Given the description of an element on the screen output the (x, y) to click on. 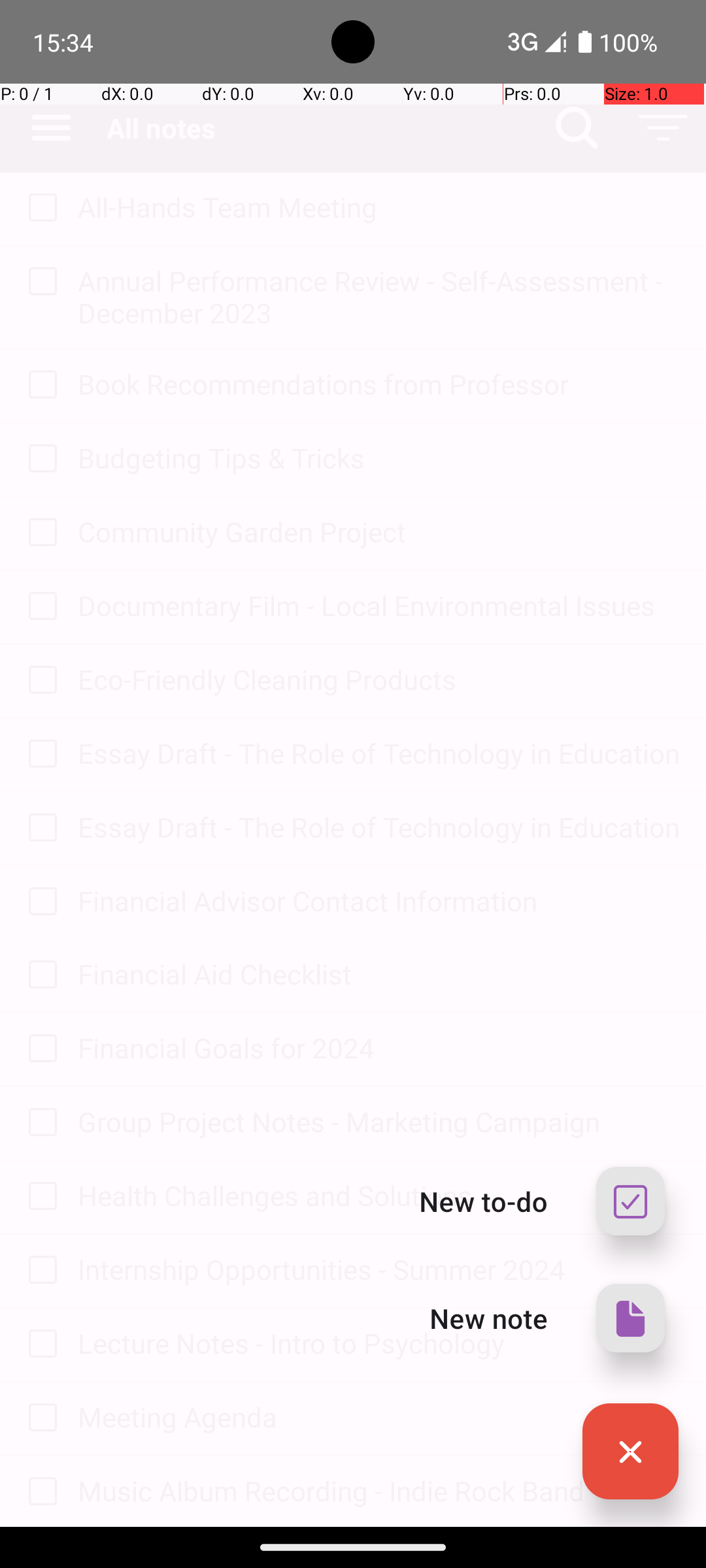
Sidebar Element type: android.widget.Button (44, 127)
All notes Element type: android.widget.TextView (320, 127)
Sort notes by Element type: android.widget.Button (663, 127)
New to-do Element type: android.widget.Button (483, 1201)
New note Element type: android.widget.Button (488, 1317)
Add new, expanded Element type: android.widget.Button (630, 1451)
 Element type: android.widget.TextView (51, 127)
 Element type: android.widget.TextView (576, 127)
 Element type: android.widget.TextView (663, 127)
 Element type: android.widget.TextView (630, 1200)
 Element type: android.widget.TextView (630, 1317)
 Element type: android.widget.TextView (630, 1450)
to-do: All-Hands Team Meeting Element type: android.widget.CheckBox (38, 208)
All-Hands Team Meeting Element type: android.widget.TextView (378, 206)
to-do: Annual Performance Review - Self-Assessment - December 2023 Element type: android.widget.CheckBox (38, 282)
Annual Performance Review - Self-Assessment - December 2023 Element type: android.widget.TextView (378, 296)
to-do: Book Recommendations from Professor Element type: android.widget.CheckBox (38, 385)
Book Recommendations from Professor Element type: android.widget.TextView (378, 383)
to-do: Budgeting Tips & Tricks Element type: android.widget.CheckBox (38, 459)
Budgeting Tips & Tricks Element type: android.widget.TextView (378, 457)
to-do: Community Garden Project Element type: android.widget.CheckBox (38, 533)
Community Garden Project Element type: android.widget.TextView (378, 531)
to-do: Documentary Film - Local Environmental Issues Element type: android.widget.CheckBox (38, 606)
Documentary Film - Local Environmental Issues Element type: android.widget.TextView (378, 604)
to-do: Eco-Friendly Cleaning Products Element type: android.widget.CheckBox (38, 680)
Eco-Friendly Cleaning Products Element type: android.widget.TextView (378, 678)
to-do: Essay Draft - The Role of Technology in Education Element type: android.widget.CheckBox (38, 754)
Essay Draft - The Role of Technology in Education Element type: android.widget.TextView (378, 752)
to-do: Financial Advisor Contact Information Element type: android.widget.CheckBox (38, 902)
Financial Advisor Contact Information Element type: android.widget.TextView (378, 900)
to-do: Financial Aid Checklist Element type: android.widget.CheckBox (38, 975)
Financial Aid Checklist Element type: android.widget.TextView (378, 973)
to-do: Financial Goals for 2024 Element type: android.widget.CheckBox (38, 1049)
Financial Goals for 2024 Element type: android.widget.TextView (378, 1047)
to-do: Group Project Notes - Marketing Campaign Element type: android.widget.CheckBox (38, 1123)
Group Project Notes - Marketing Campaign Element type: android.widget.TextView (378, 1121)
to-do: Health Challenges and Solutions Element type: android.widget.CheckBox (38, 1196)
Health Challenges and Solutions Element type: android.widget.TextView (378, 1194)
to-do: Internship Opportunities - Summer 2024 Element type: android.widget.CheckBox (38, 1270)
Internship Opportunities - Summer 2024 Element type: android.widget.TextView (378, 1268)
to-do: Lecture Notes - Intro to Psychology Element type: android.widget.CheckBox (38, 1344)
Lecture Notes - Intro to Psychology Element type: android.widget.TextView (378, 1342)
to-do: Meeting Agenda Element type: android.widget.CheckBox (38, 1418)
Meeting Agenda Element type: android.widget.TextView (378, 1416)
to-do: Music Album Recording - Indie Rock Band Element type: android.widget.CheckBox (38, 1491)
Music Album Recording - Indie Rock Band Element type: android.widget.TextView (378, 1490)
 Element type: android.widget.TextView (42, 208)
